Given the description of an element on the screen output the (x, y) to click on. 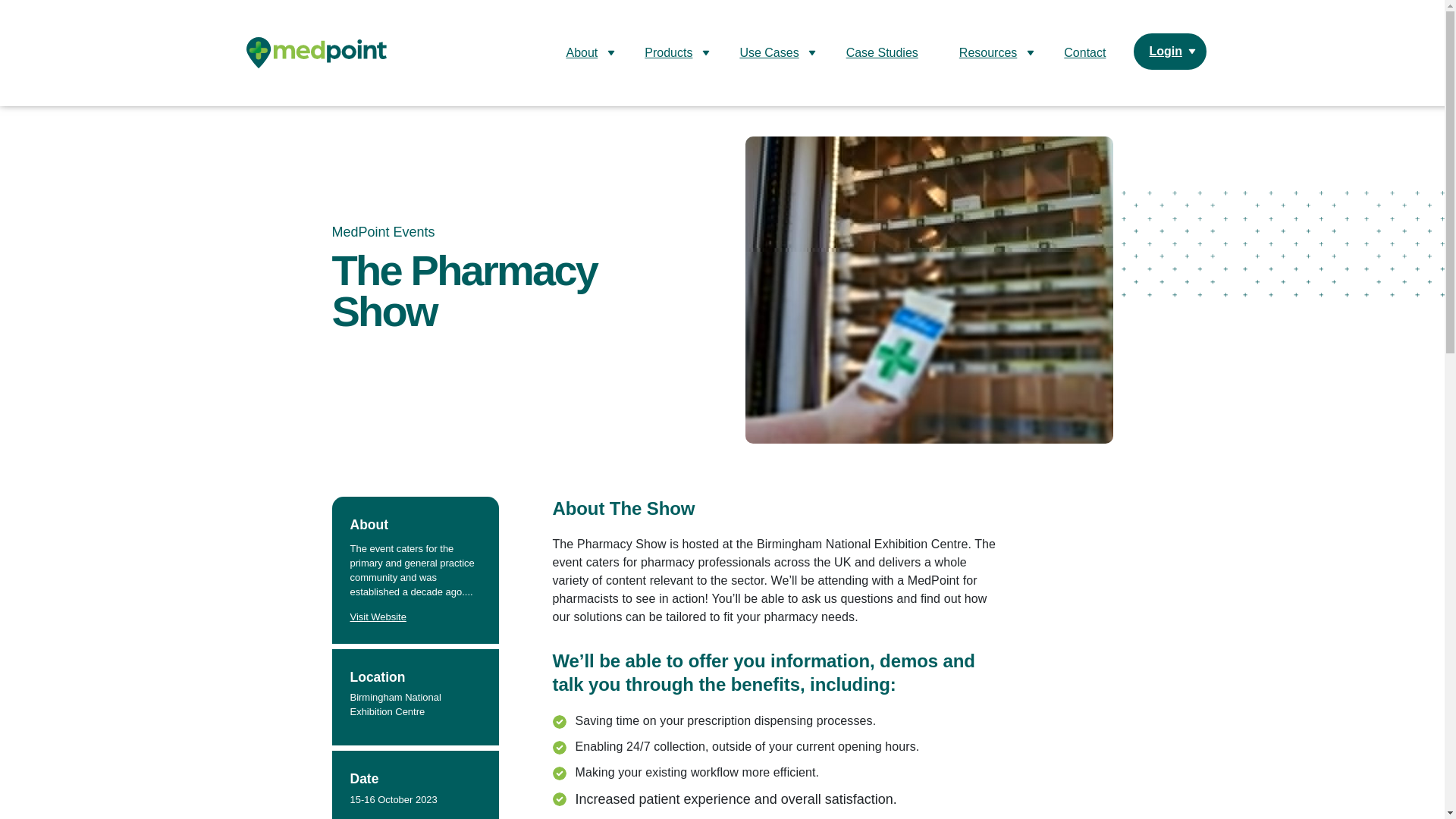
Products (671, 52)
Use Cases (772, 52)
Case Studies (882, 52)
Contact (1084, 52)
Login (1170, 51)
MedPoint (323, 51)
Resources (991, 52)
About (584, 52)
Visit Website (378, 616)
